Given the description of an element on the screen output the (x, y) to click on. 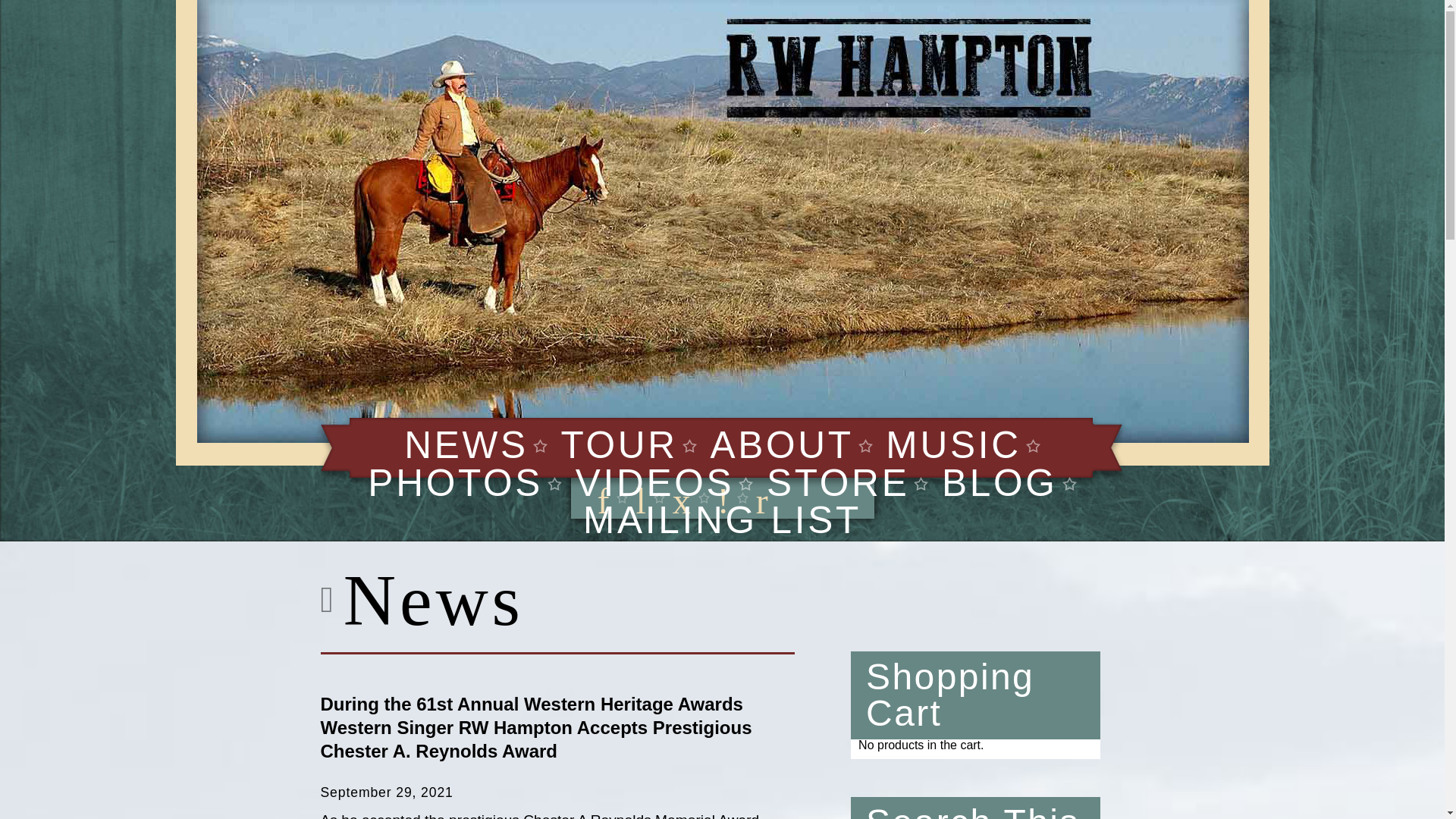
ABOUT (781, 445)
BLOG (1000, 482)
MUSIC (952, 445)
STORE (838, 482)
NEWS (466, 445)
MAILING LIST (722, 519)
PHOTOS (455, 482)
VIDEOS (655, 482)
TOUR (618, 445)
